Given the description of an element on the screen output the (x, y) to click on. 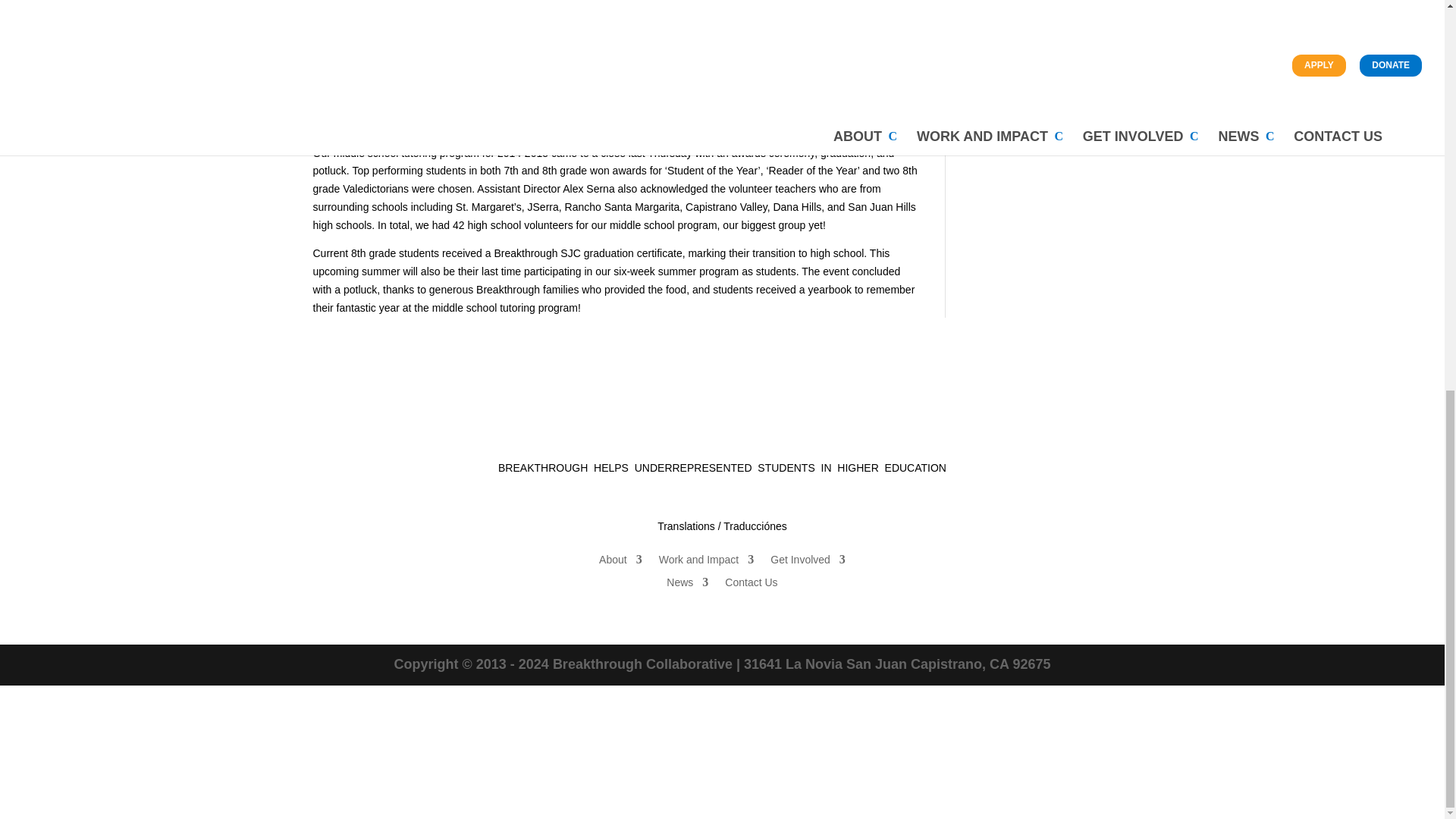
About (620, 562)
